Given the description of an element on the screen output the (x, y) to click on. 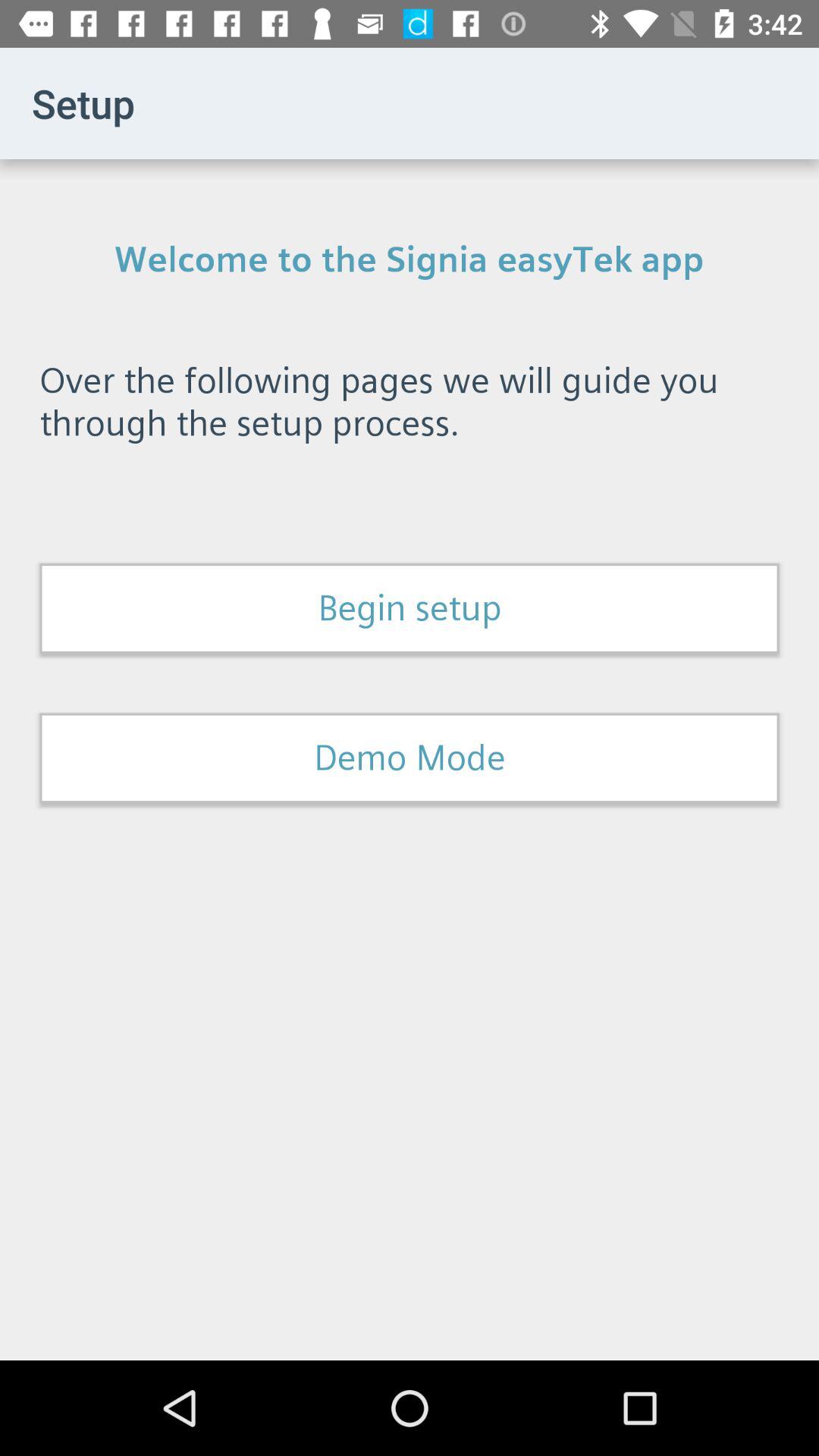
jump until the demo mode (409, 758)
